Given the description of an element on the screen output the (x, y) to click on. 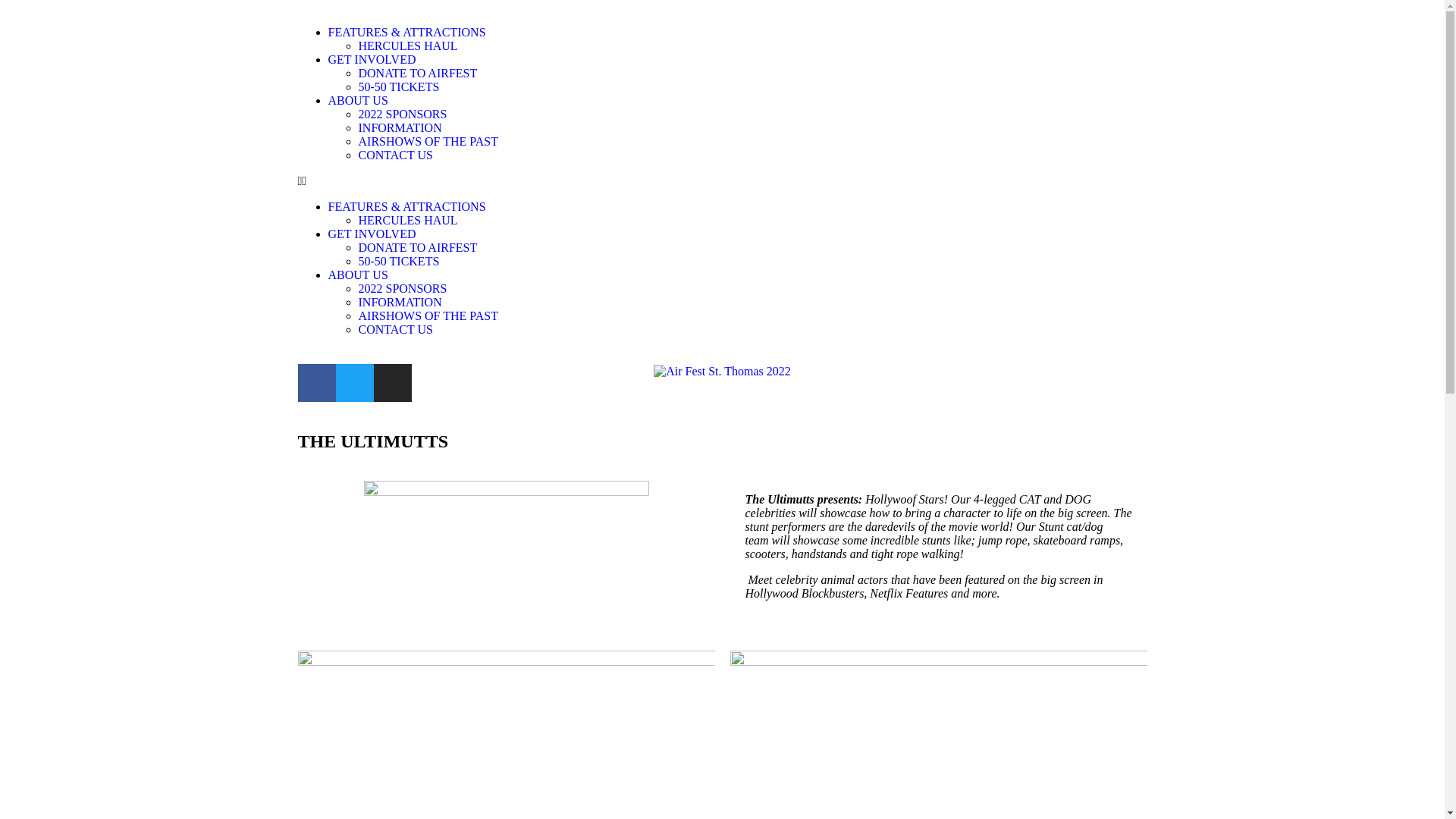
CONTACT US Element type: text (394, 329)
DONATE TO AIRFEST Element type: text (416, 247)
CONTACT US Element type: text (394, 154)
ABOUT US Element type: text (357, 274)
50-50 TICKETS Element type: text (398, 260)
FEATURES & ATTRACTIONS Element type: text (406, 31)
INFORMATION Element type: text (399, 301)
ABOUT US Element type: text (357, 100)
FEATURES & ATTRACTIONS Element type: text (406, 206)
GET INVOLVED Element type: text (371, 233)
AIRSHOWS OF THE PAST Element type: text (427, 315)
GET INVOLVED Element type: text (371, 59)
Air Fest St. Thomas 2022 Element type: hover (721, 371)
2022 SPONSORS Element type: text (401, 288)
50-50 TICKETS Element type: text (398, 86)
HERCULES HAUL Element type: text (407, 219)
2022 SPONSORS Element type: text (401, 113)
HERCULES HAUL Element type: text (407, 45)
DONATE TO AIRFEST Element type: text (416, 72)
AIRSHOWS OF THE PAST Element type: text (427, 140)
INFORMATION Element type: text (399, 127)
